Given the description of an element on the screen output the (x, y) to click on. 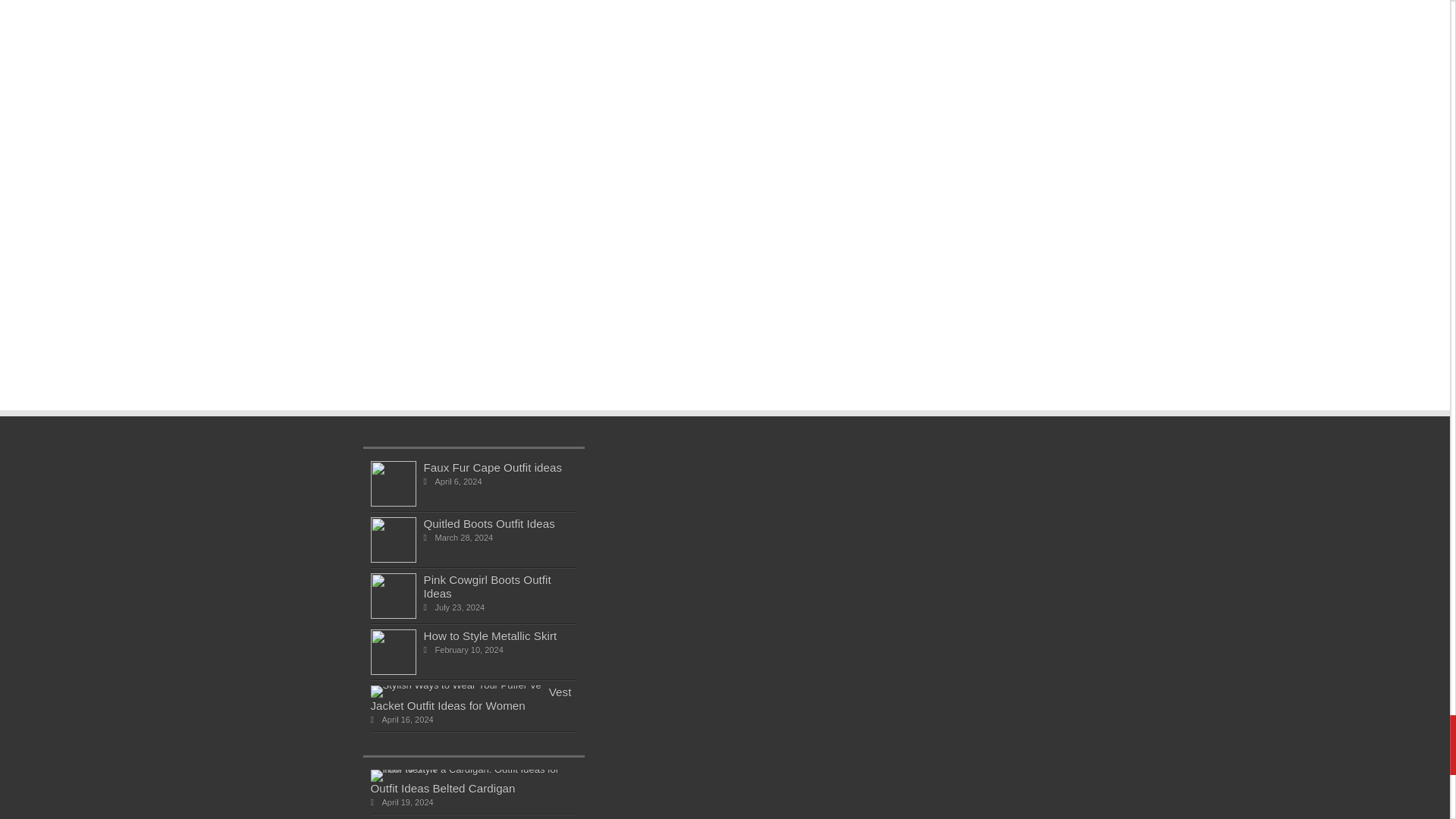
Quitled Boots Outfit Ideas (391, 614)
Permalink to Faux Fur Cape Outfit ideas (488, 522)
Pink Cowgirl Boots Outfit Ideas (391, 502)
Permalink to Quitled Boots Outfit Ideas (486, 586)
Faux Fur Cape Outfit ideas (391, 559)
